Given the description of an element on the screen output the (x, y) to click on. 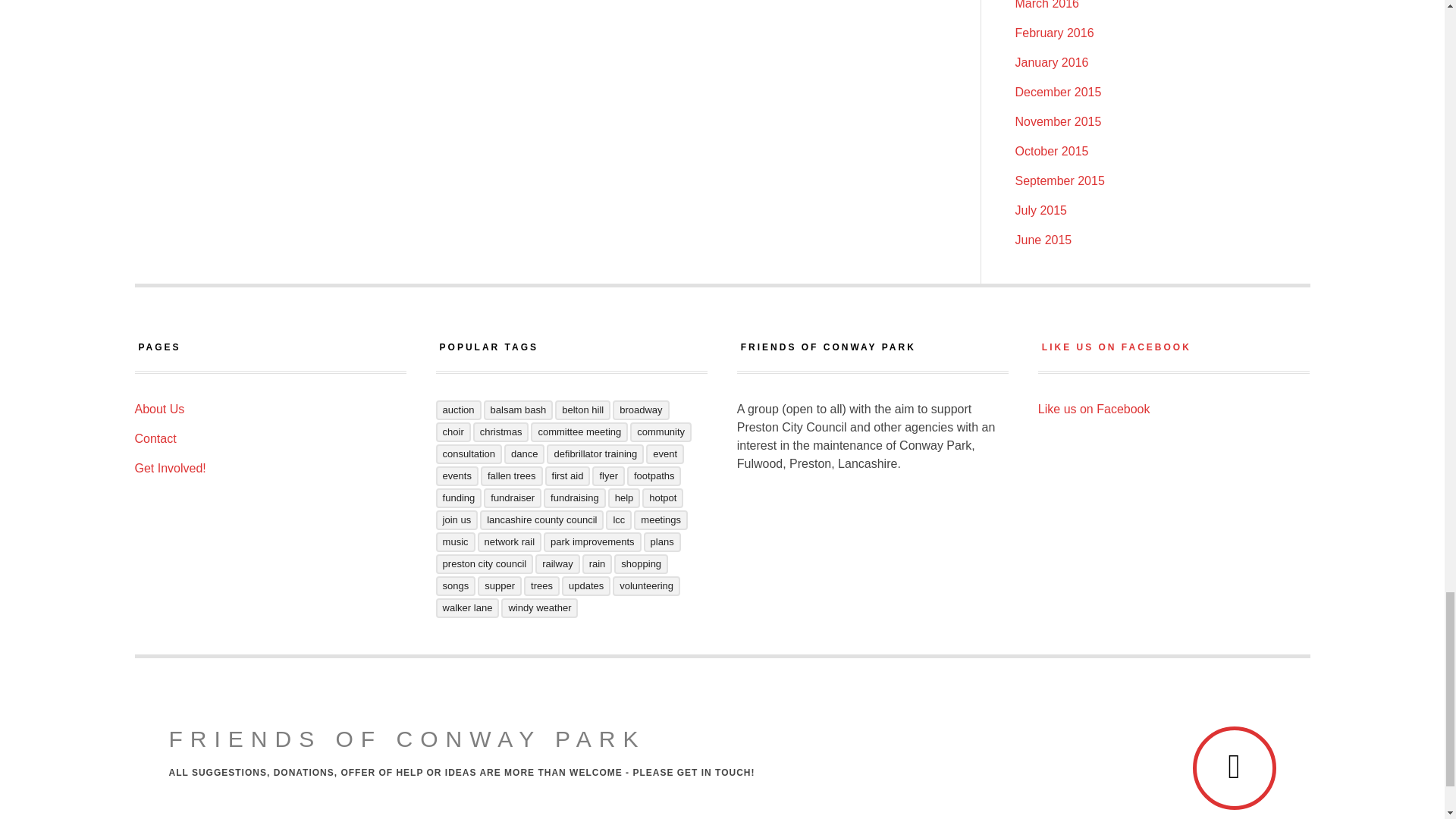
Friends of Conway Park (406, 739)
